Given the description of an element on the screen output the (x, y) to click on. 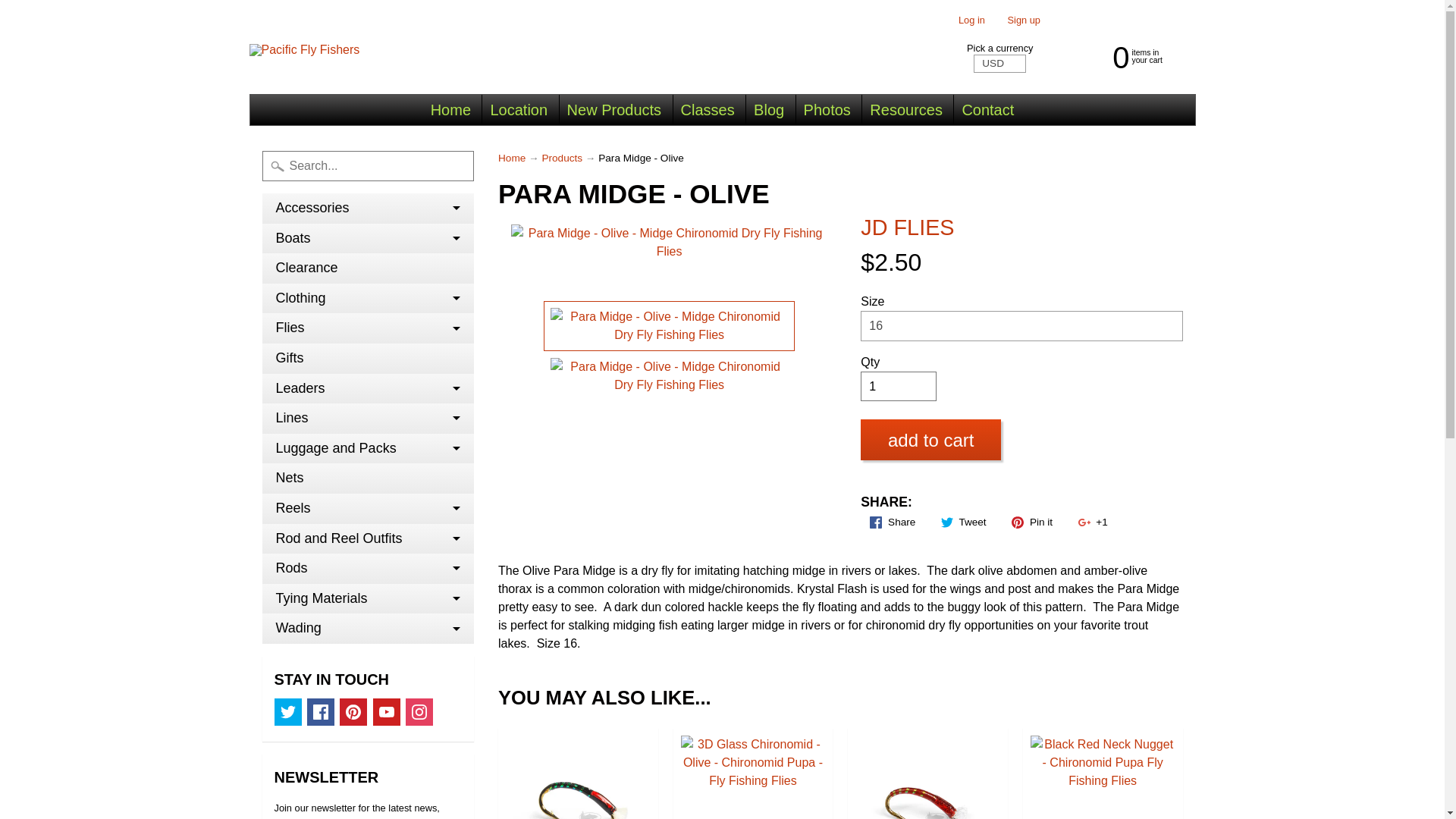
Pin on Pinterest (1032, 522)
Sign up (1024, 20)
Para Midge - Olive - Midge Chironomid Dry Fly Fishing Flies (668, 376)
Photos (827, 110)
Blog (768, 110)
Youtube (386, 711)
Instagram (419, 711)
Facebook (320, 711)
Tweet on Twitter (963, 522)
Share on Facebook (892, 522)
Boats (368, 238)
Location (517, 110)
Resources (905, 110)
Para Midge - Olive - Midge Chironomid Dry Fly Fishing Flies (668, 326)
Contact (987, 110)
